Given the description of an element on the screen output the (x, y) to click on. 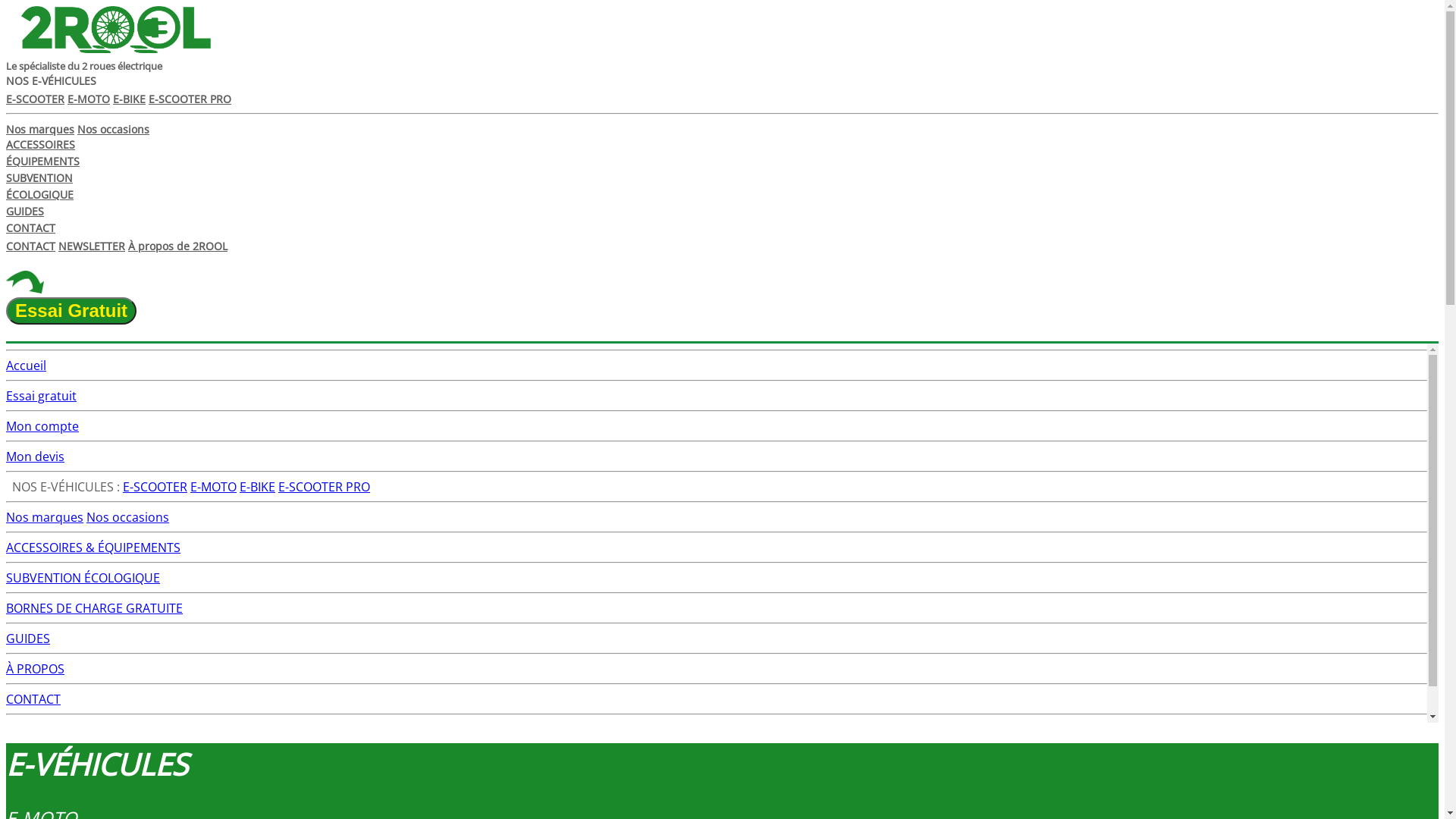
Accueil Element type: text (26, 365)
E-SCOOTER Element type: text (35, 98)
Essai Gratuit Element type: text (722, 298)
Nos occasions Element type: text (127, 516)
E-SCOOTER Element type: text (154, 486)
Mon devis Element type: text (35, 456)
E-SCOOTER PRO Element type: text (324, 486)
NEWSLETTER Element type: text (43, 729)
CONTACT Element type: text (30, 245)
GUIDES Element type: text (24, 210)
E-BIKE Element type: text (257, 486)
Essai Gratuit Element type: text (71, 310)
Nos occasions Element type: text (113, 129)
Nos marques Element type: text (44, 516)
Nos marques Element type: text (40, 129)
Mon compte Element type: text (42, 425)
E-BIKE Element type: text (128, 98)
E-MOTO Element type: text (88, 98)
CONTACT Element type: text (30, 227)
Essai gratuit Element type: text (41, 395)
BORNES DE CHARGE GRATUITE Element type: text (94, 607)
NEWSLETTER Element type: text (91, 245)
E-SCOOTER PRO Element type: text (189, 98)
CONTACT Element type: text (33, 698)
GUIDES Element type: text (28, 638)
E-MOTO Element type: text (213, 486)
